Given the description of an element on the screen output the (x, y) to click on. 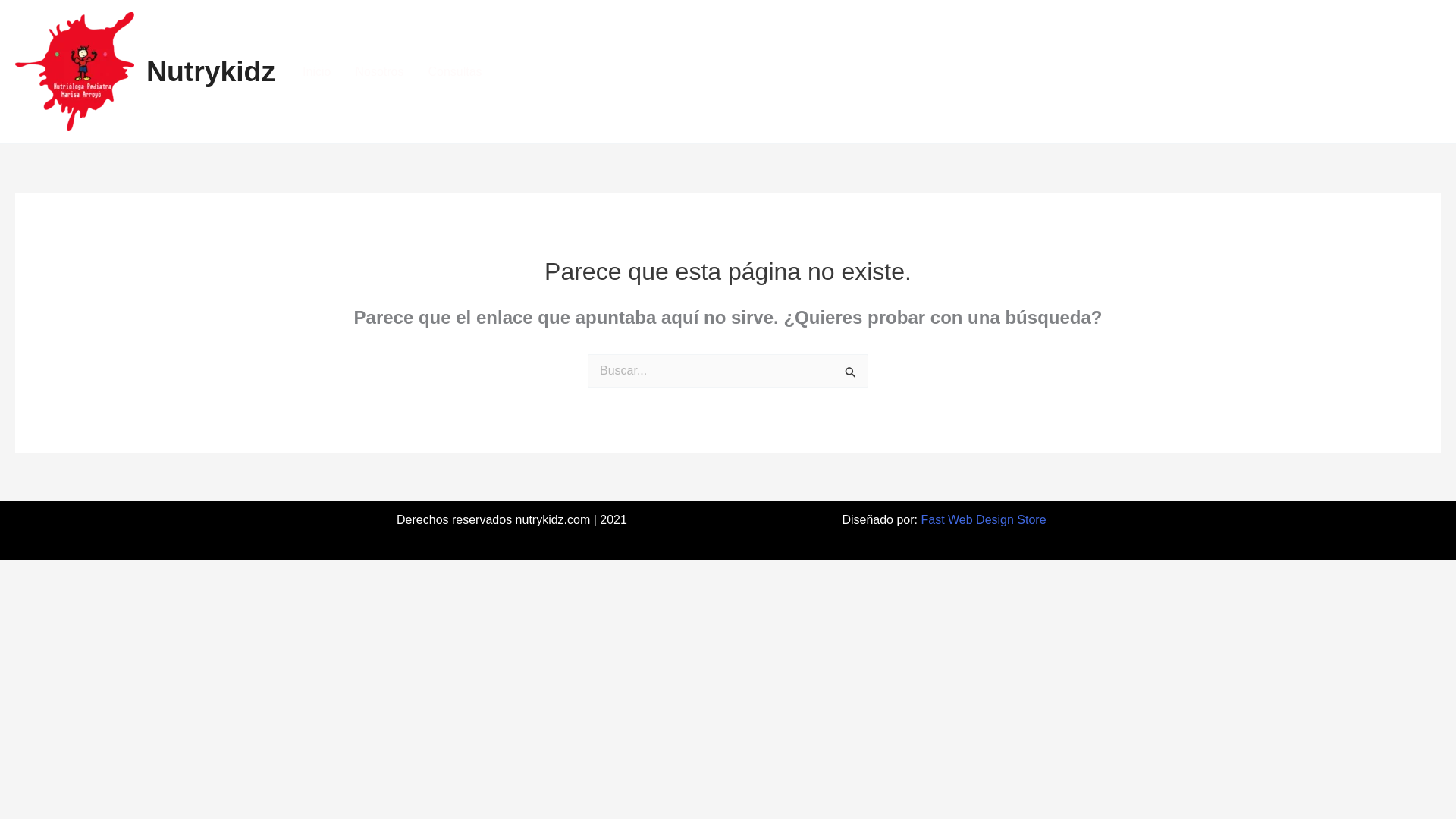
Fast Web Design Store (982, 519)
Nutrykidz (211, 70)
Nosotros (378, 70)
Consultas (453, 70)
